Given the description of an element on the screen output the (x, y) to click on. 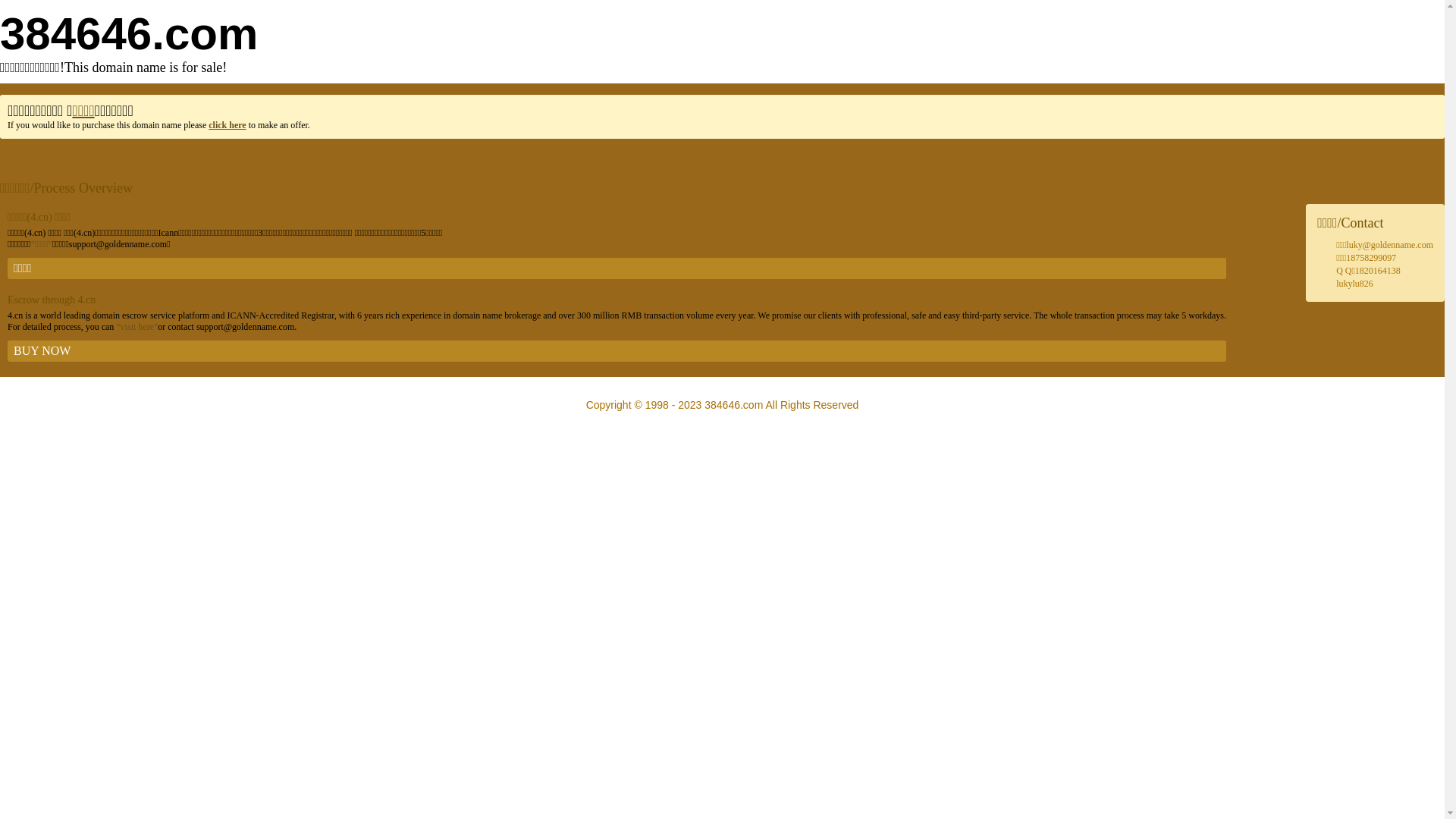
click here Element type: text (226, 124)
BUY NOW Element type: text (616, 350)
